Given the description of an element on the screen output the (x, y) to click on. 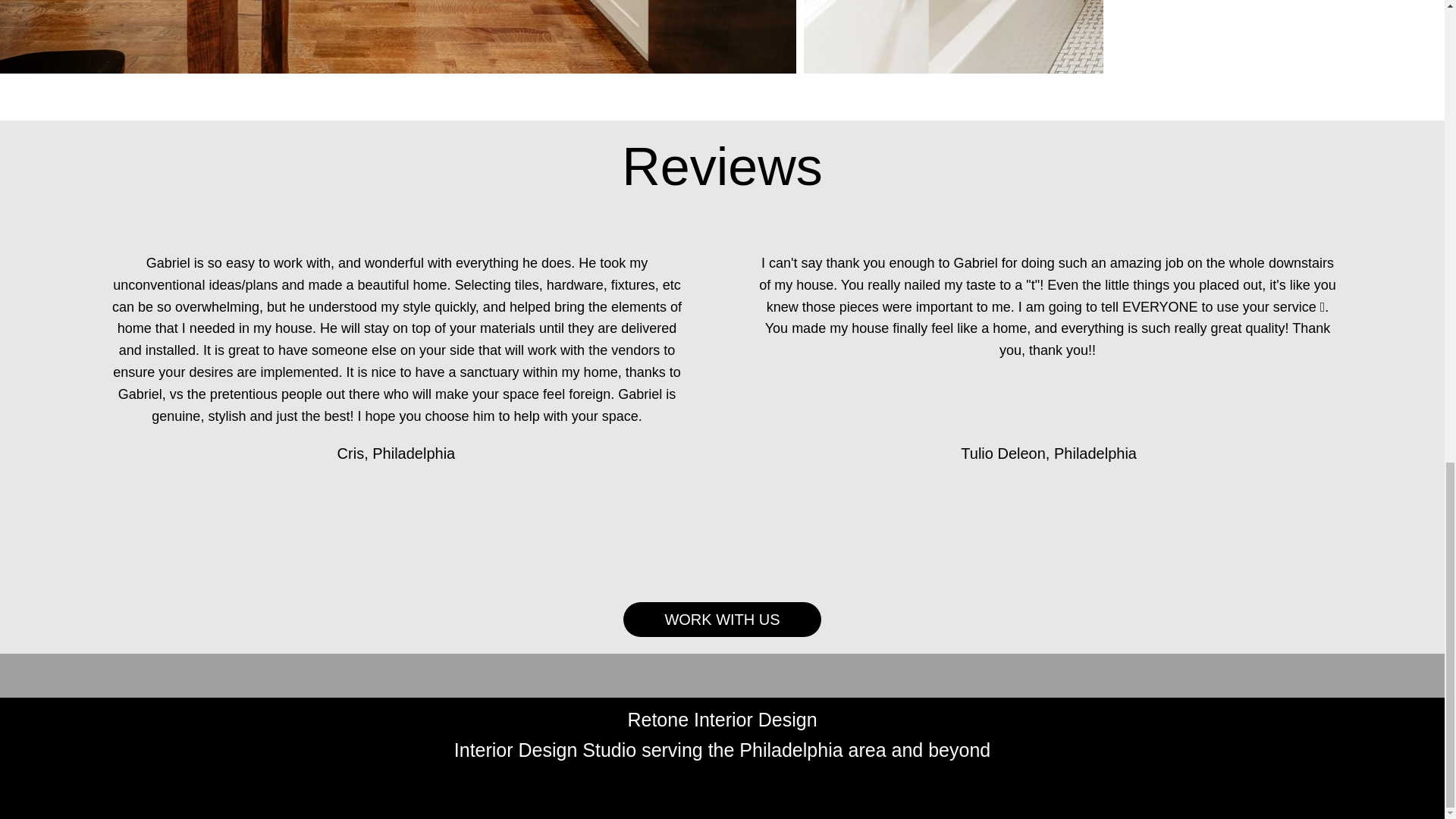
WORK WITH US (722, 619)
